Given the description of an element on the screen output the (x, y) to click on. 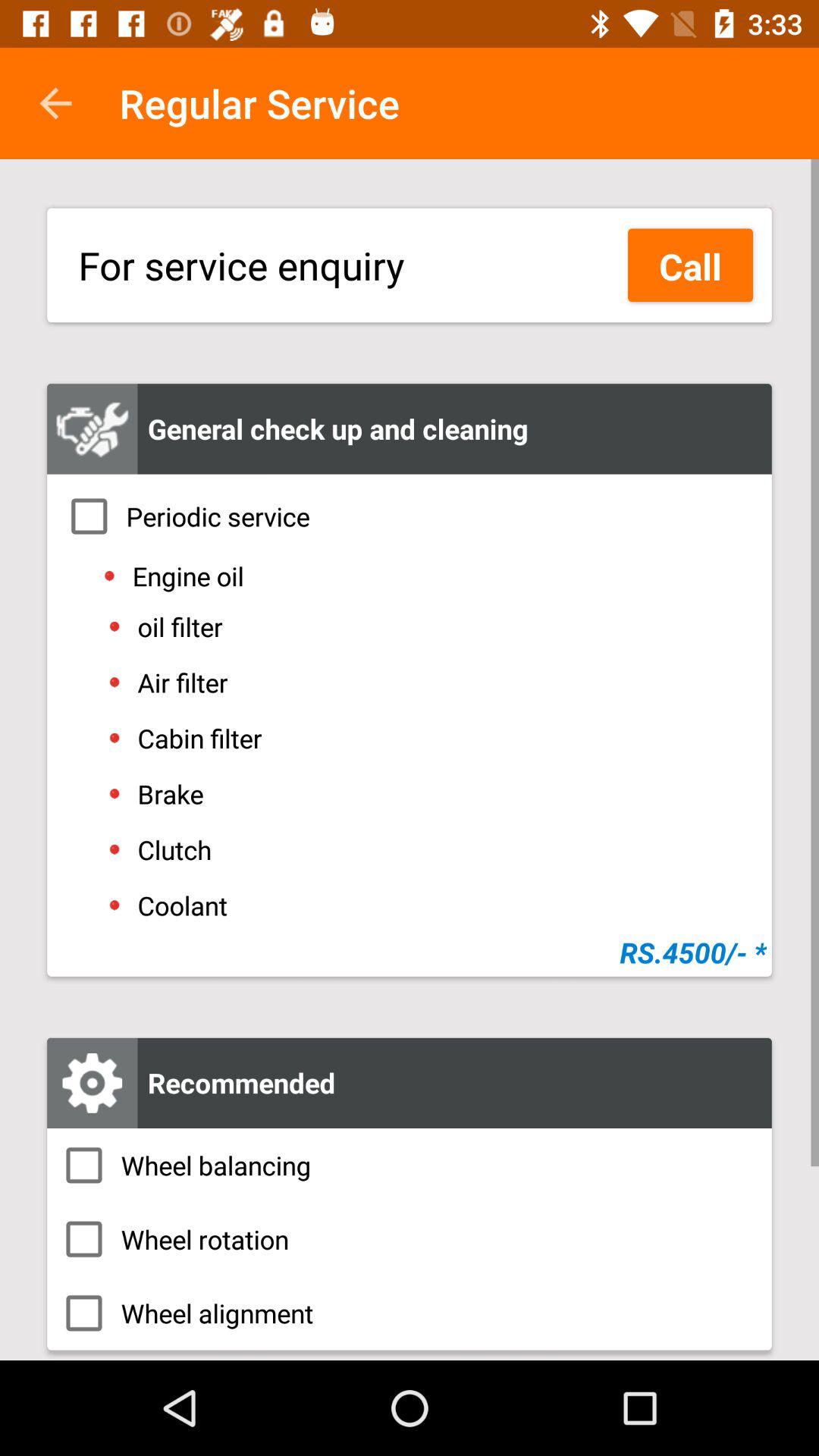
click the item below the wheel rotation icon (409, 1313)
